Given the description of an element on the screen output the (x, y) to click on. 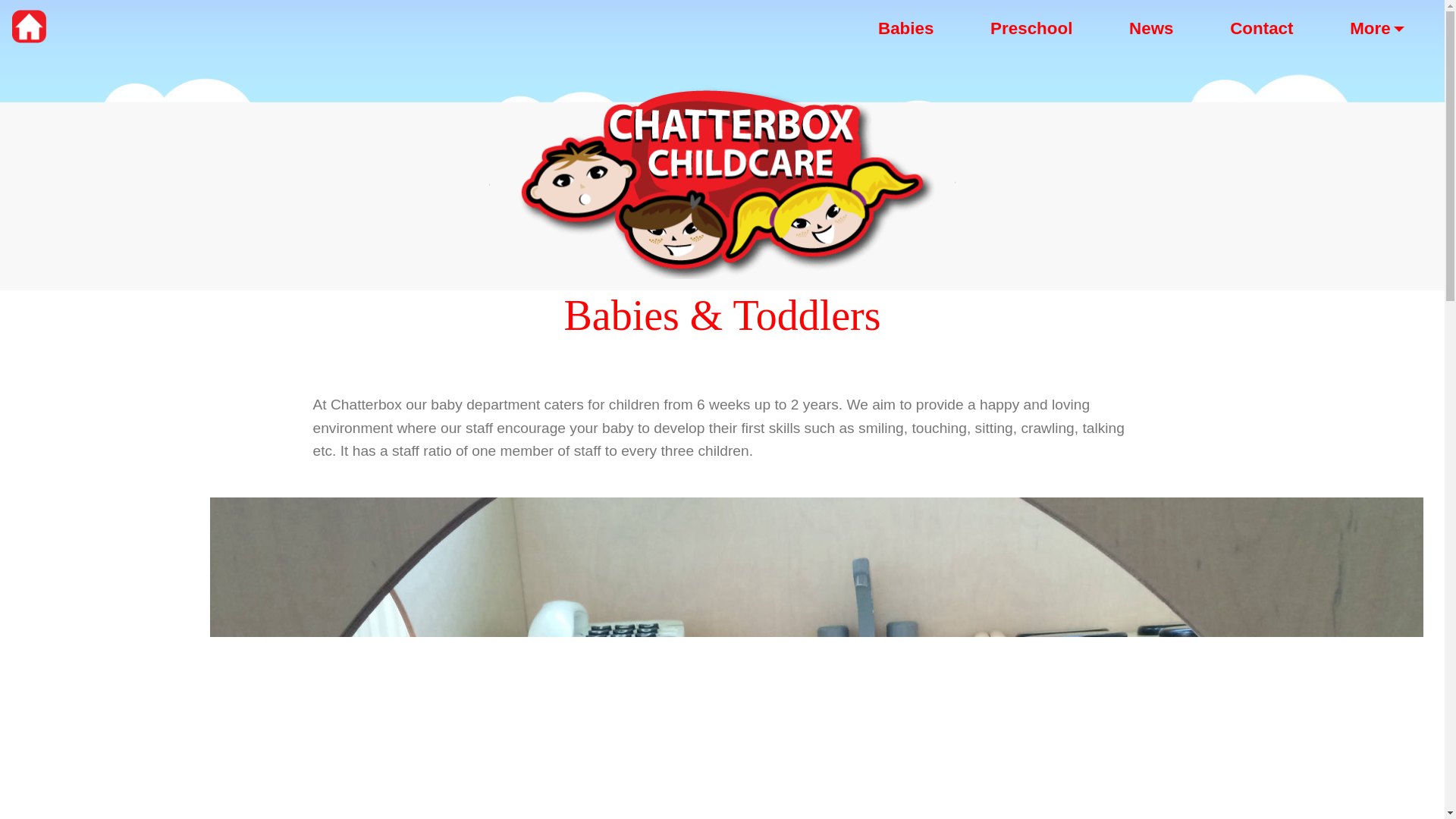
Contact (1262, 28)
News (1151, 28)
More (1377, 28)
Babies (906, 28)
Chatterbox Logo (721, 180)
Preschool (1031, 28)
